Given the description of an element on the screen output the (x, y) to click on. 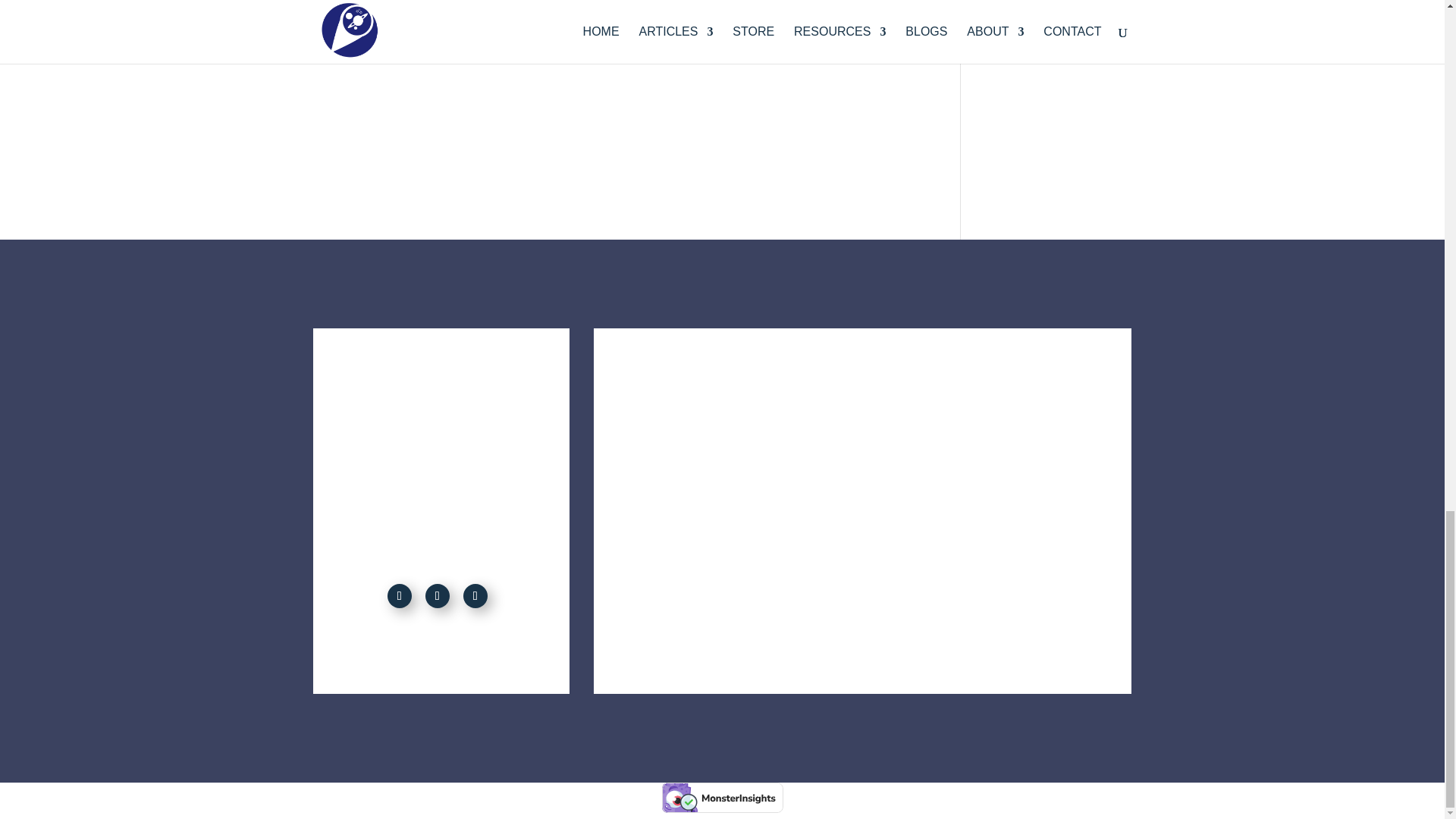
Lightbridge at Lake Cuyamaca (614, 101)
Follow on Twitter (437, 595)
Follow on LinkedIn (475, 595)
Follow on Facebook (399, 595)
Verified by MonsterInsights (722, 797)
